Given the description of an element on the screen output the (x, y) to click on. 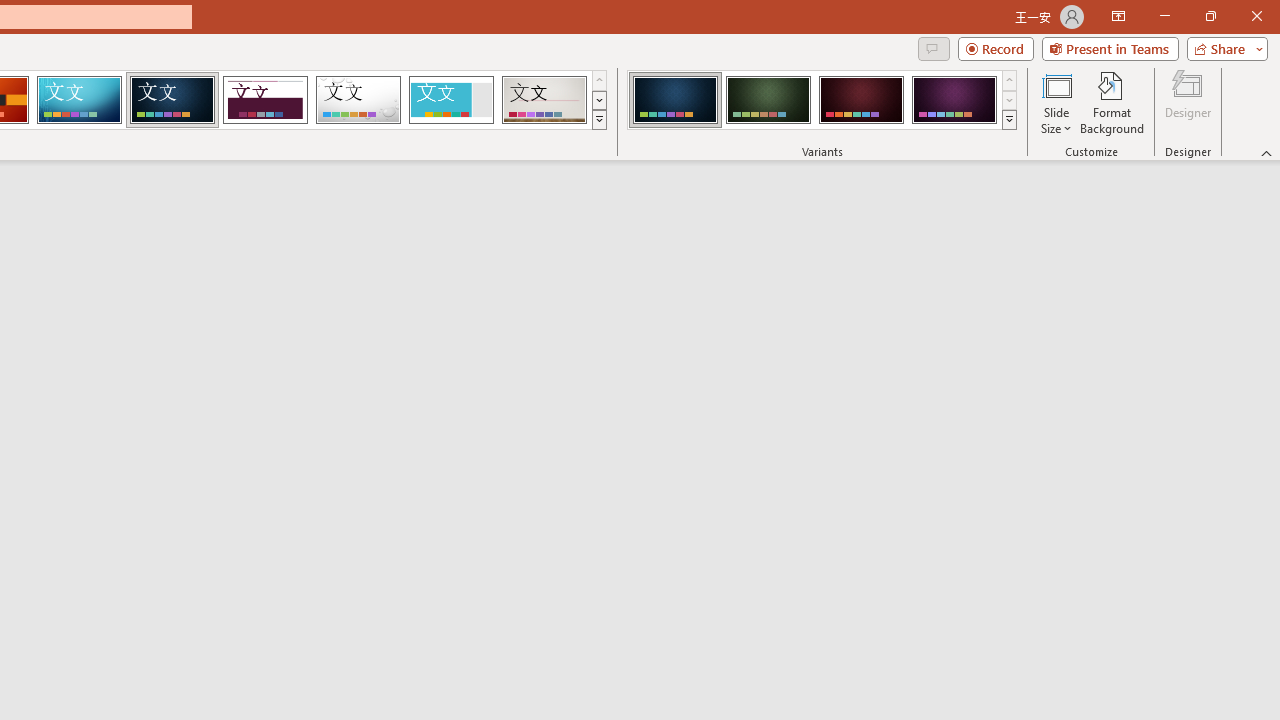
Format Background (1111, 102)
Droplet Loading Preview... (358, 100)
Damask Loading Preview... (171, 100)
Circuit Loading Preview... (79, 100)
Gallery Loading Preview... (544, 100)
Slide Size (1056, 102)
Damask Variant 2 (768, 100)
